Given the description of an element on the screen output the (x, y) to click on. 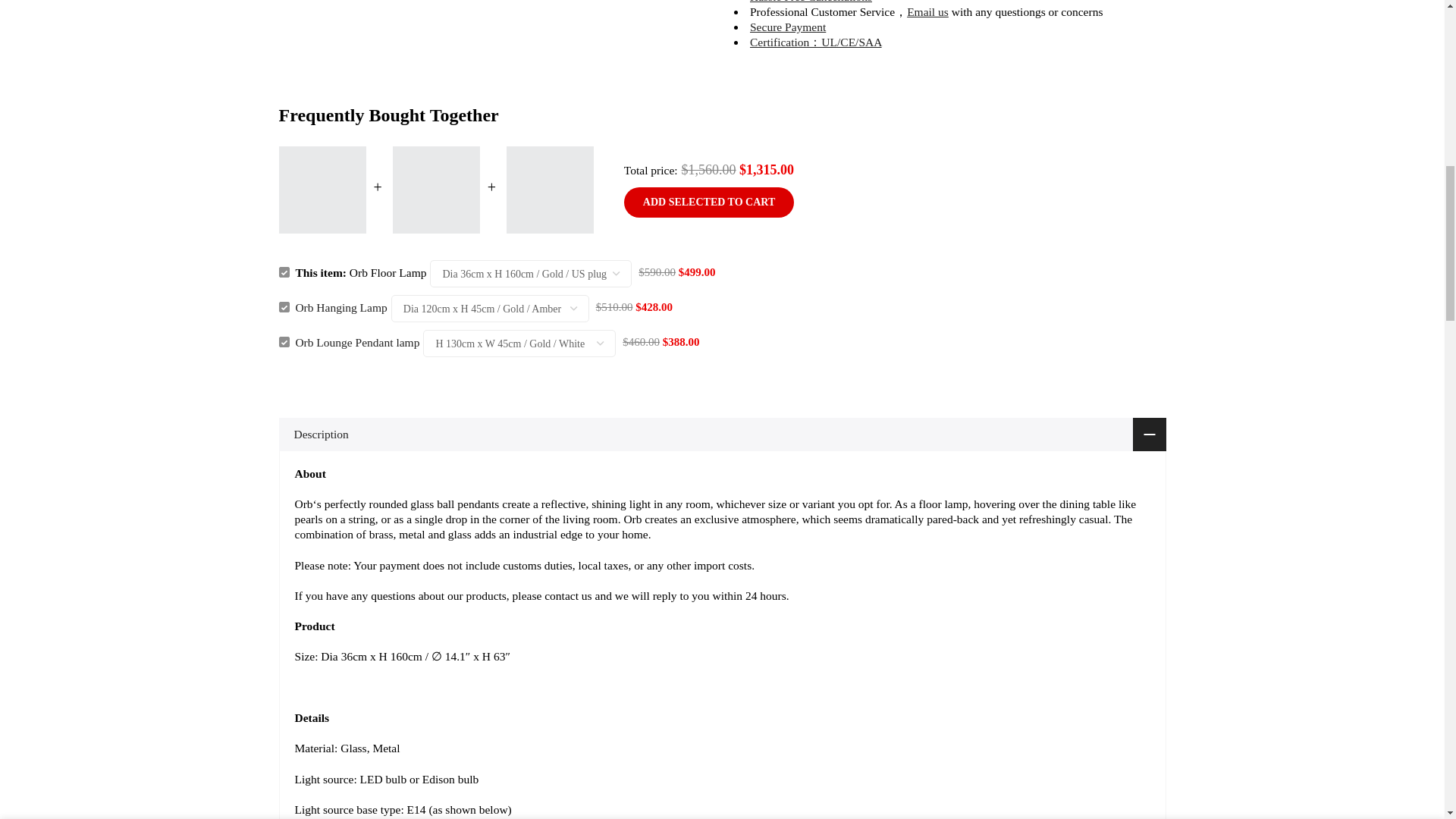
1 (1001, 35)
